Given the description of an element on the screen output the (x, y) to click on. 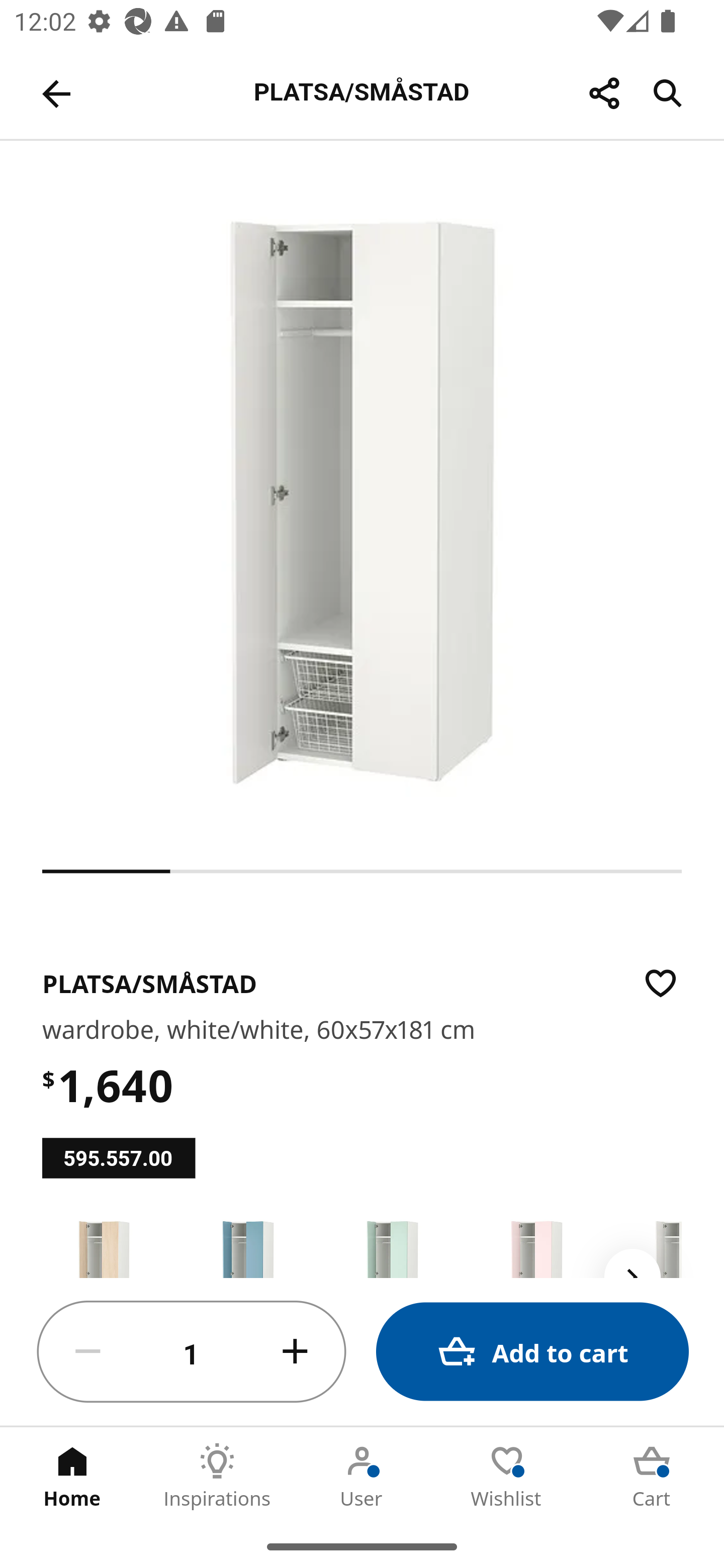
Add to cart (531, 1352)
1 (191, 1352)
Home
Tab 1 of 5 (72, 1476)
Inspirations
Tab 2 of 5 (216, 1476)
User
Tab 3 of 5 (361, 1476)
Wishlist
Tab 4 of 5 (506, 1476)
Cart
Tab 5 of 5 (651, 1476)
